Given the description of an element on the screen output the (x, y) to click on. 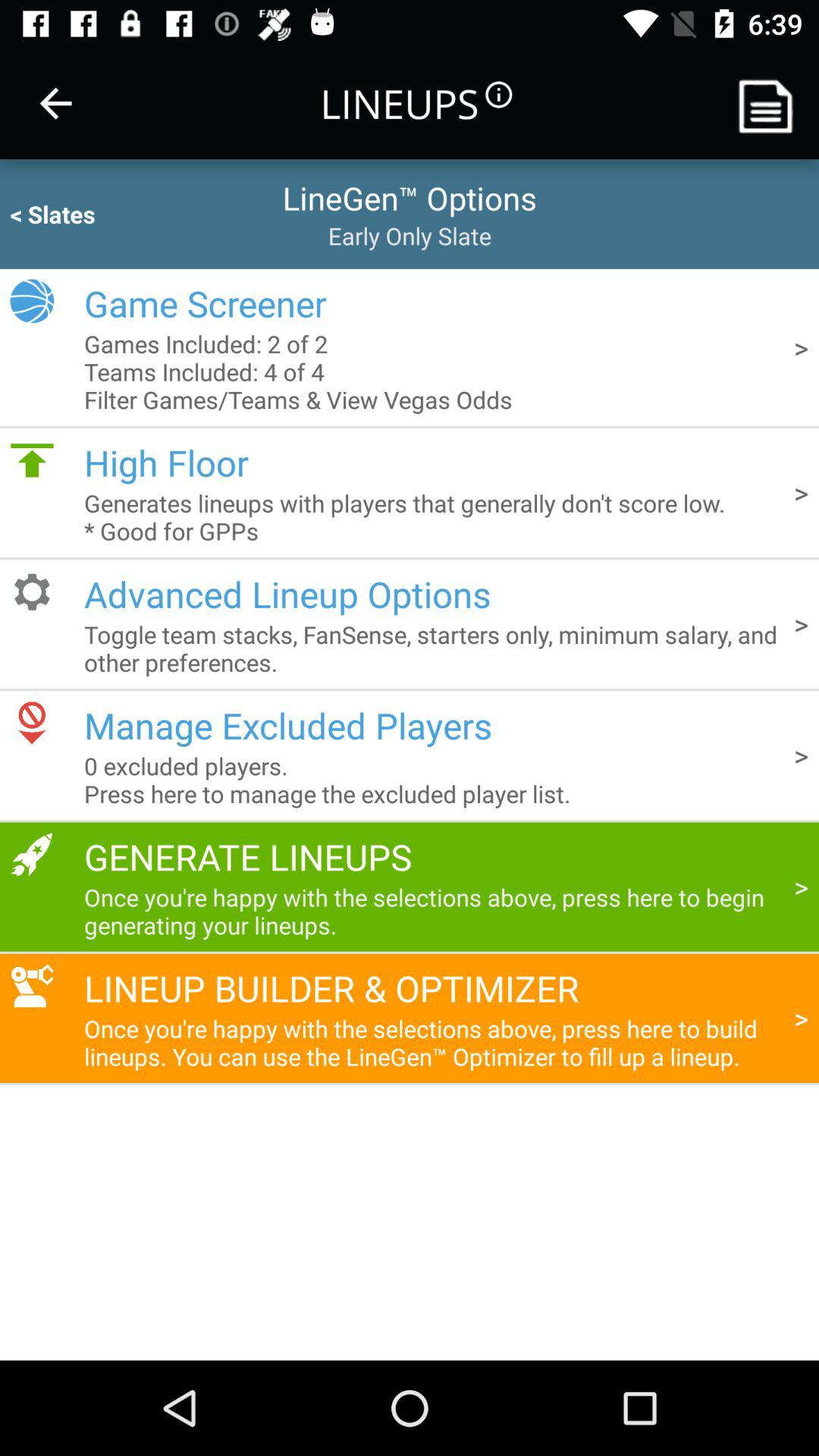
launch icon next to the lineups icon (55, 103)
